Given the description of an element on the screen output the (x, y) to click on. 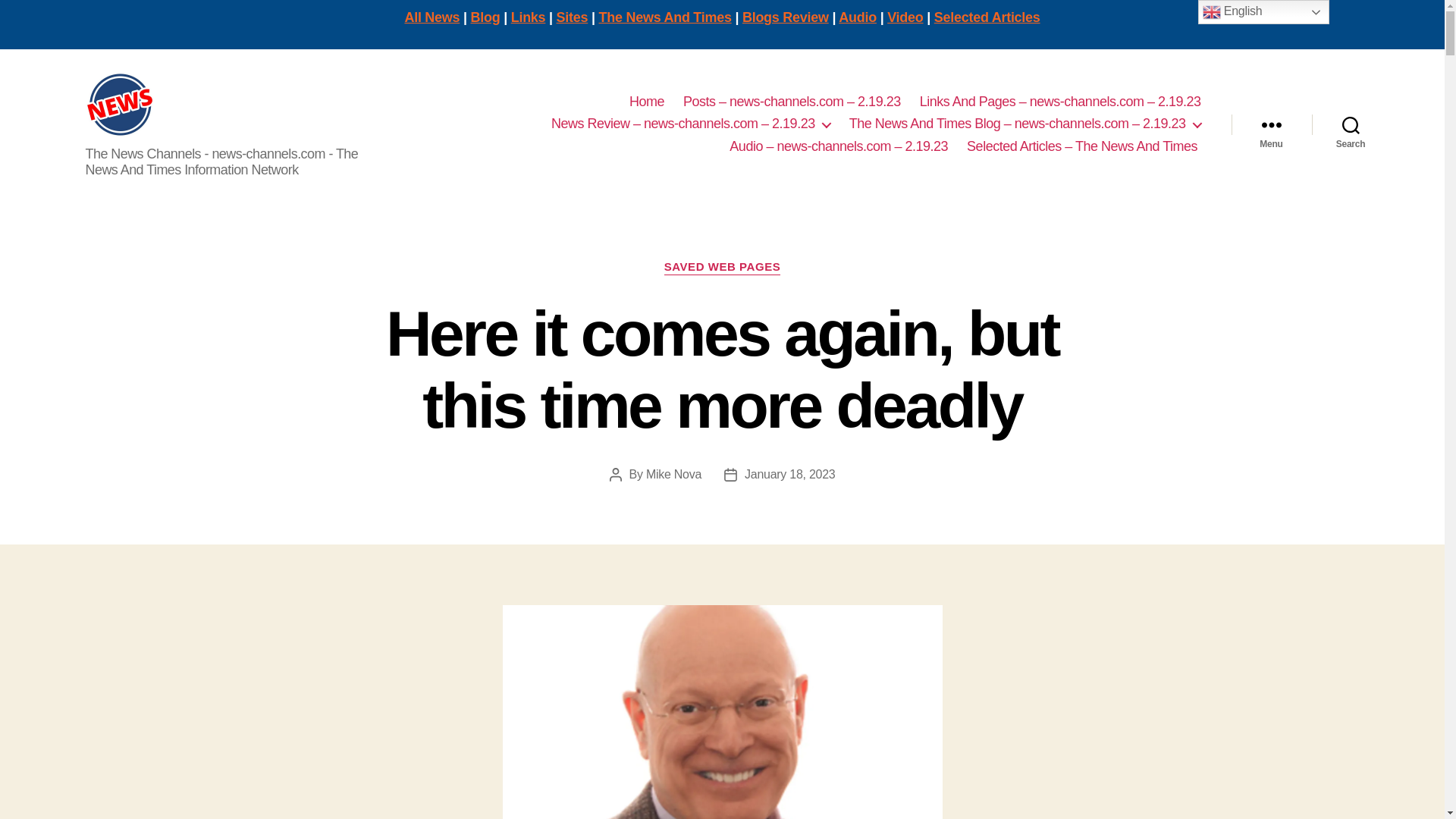
All News (432, 17)
Links (528, 17)
Menu (1271, 123)
Sites (572, 17)
The News And Times (665, 17)
Blog (485, 17)
Selected Articles (987, 17)
Audio (857, 17)
Blogs Review (785, 17)
Search (1350, 123)
Home (645, 102)
Video (904, 17)
